Given the description of an element on the screen output the (x, y) to click on. 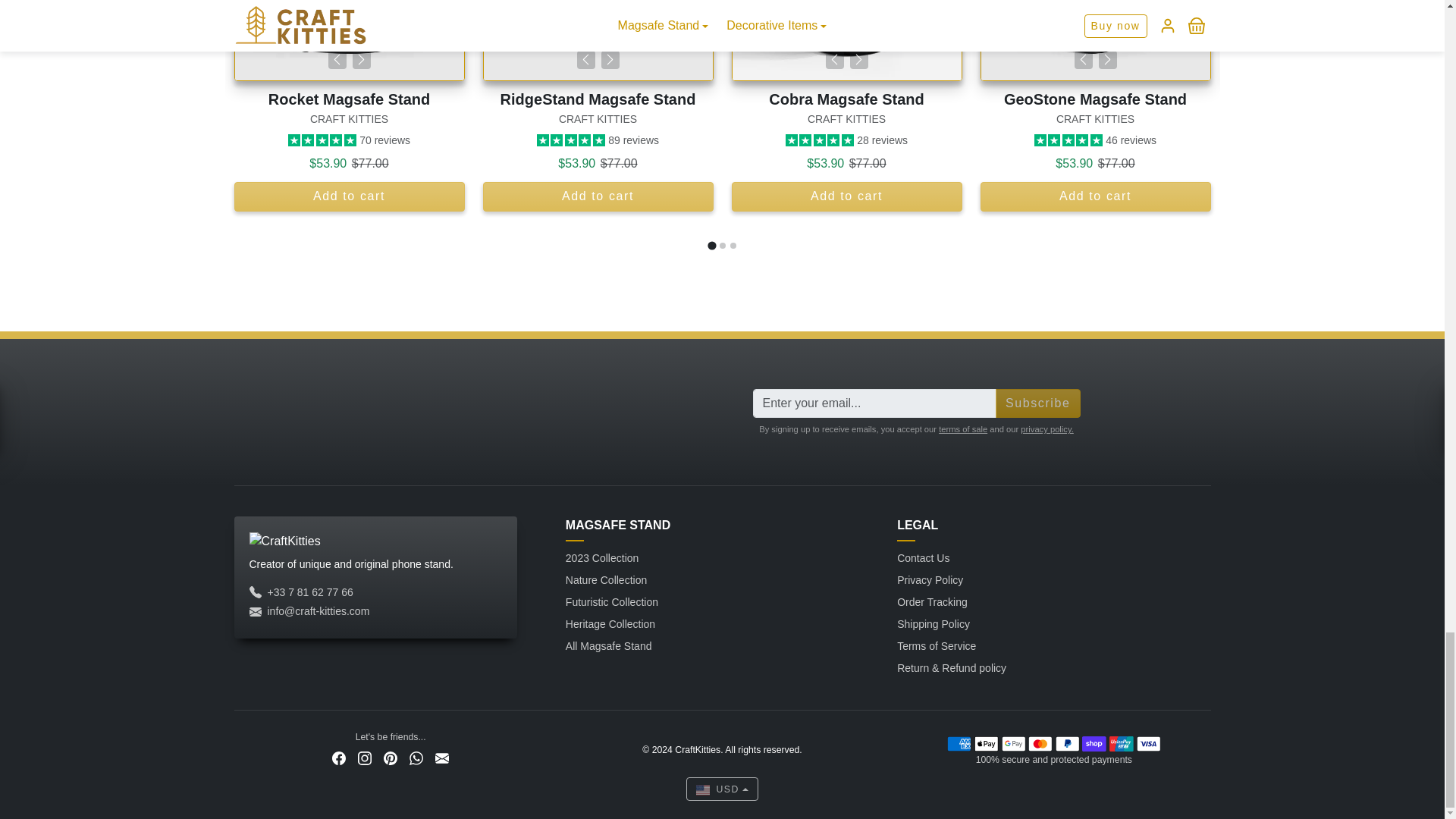
Terms of Service (963, 429)
Privacy Policy (1046, 429)
